Given the description of an element on the screen output the (x, y) to click on. 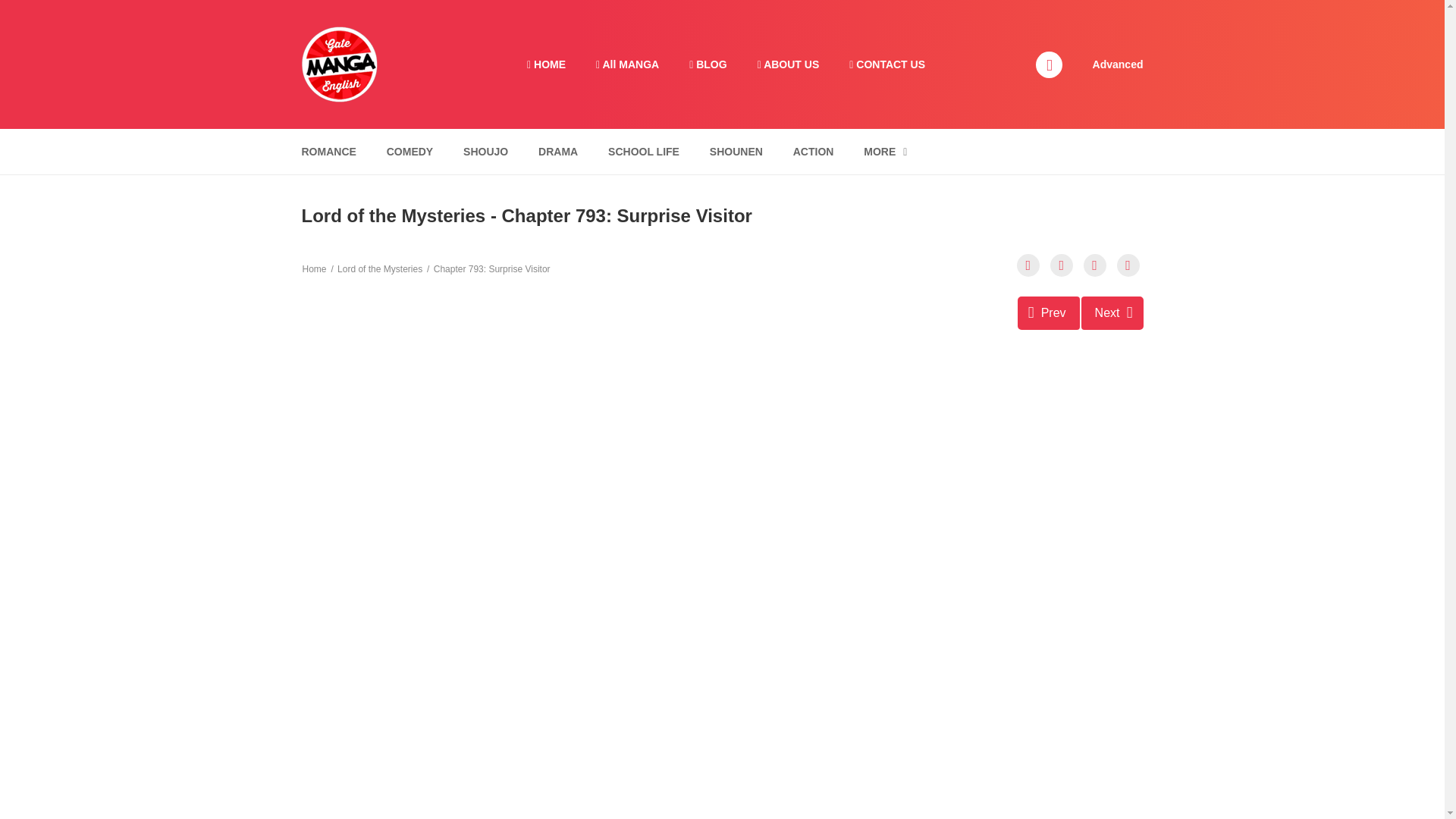
MORE (885, 151)
SHOUJO (485, 151)
All MANGA (627, 64)
COMEDY (409, 151)
ABOUT US (788, 64)
ACTION (813, 151)
DRAMA (558, 151)
CONTACT US (887, 64)
Search (970, 9)
ROMANCE (328, 151)
Advanced (1117, 63)
SHOUNEN (736, 151)
SCHOOL LIFE (643, 151)
HOME (546, 64)
Chapter 794: Short (1111, 313)
